Given the description of an element on the screen output the (x, y) to click on. 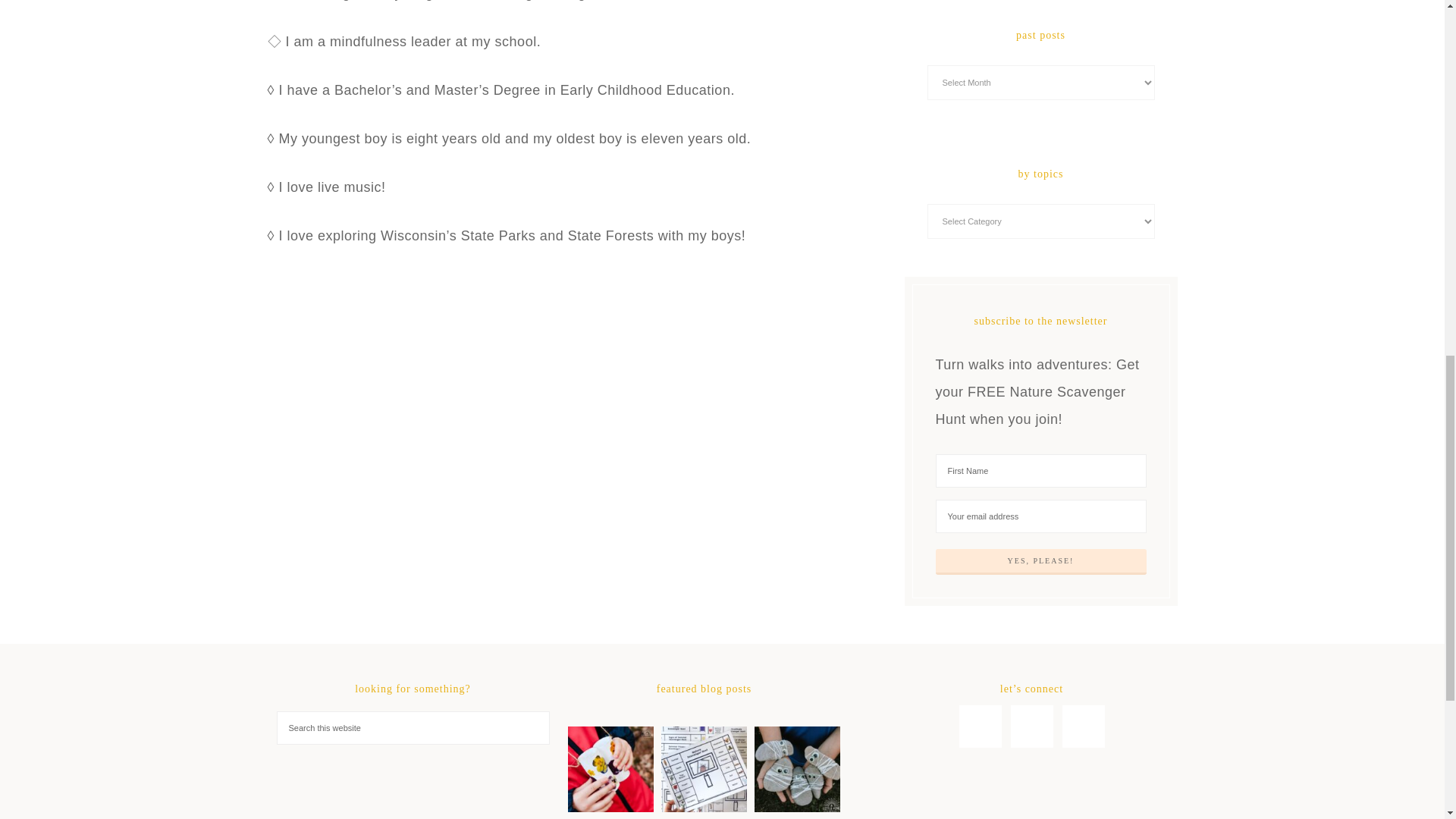
YES, PLEASE! (1041, 561)
YES, PLEASE! (1041, 561)
